Given the description of an element on the screen output the (x, y) to click on. 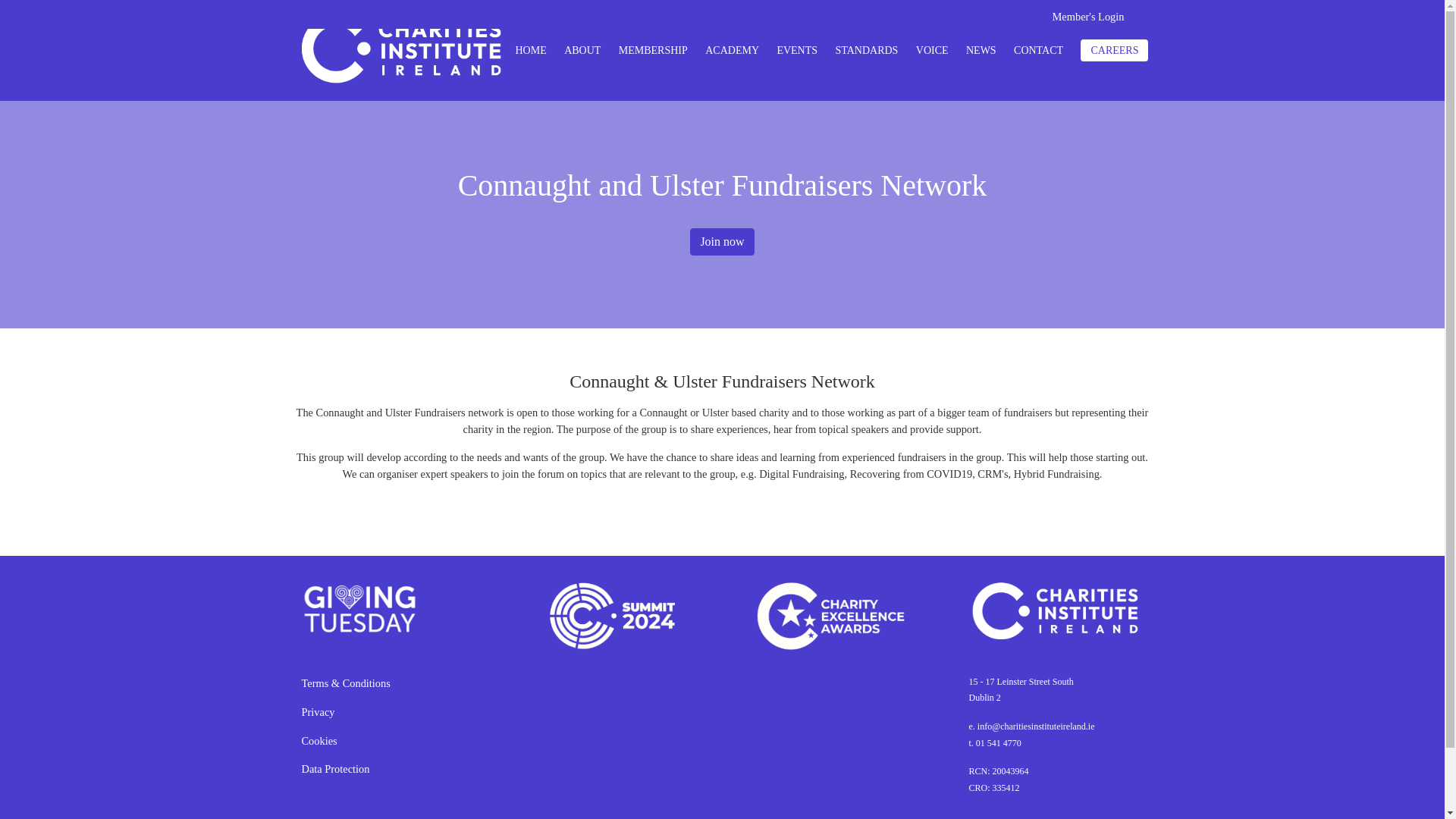
Member's Login (1088, 16)
HOME (531, 50)
EVENTS (796, 50)
MEMBERSHIP (652, 50)
STANDARDS (866, 50)
ACADEMY (731, 50)
ABOUT (581, 50)
